Given the description of an element on the screen output the (x, y) to click on. 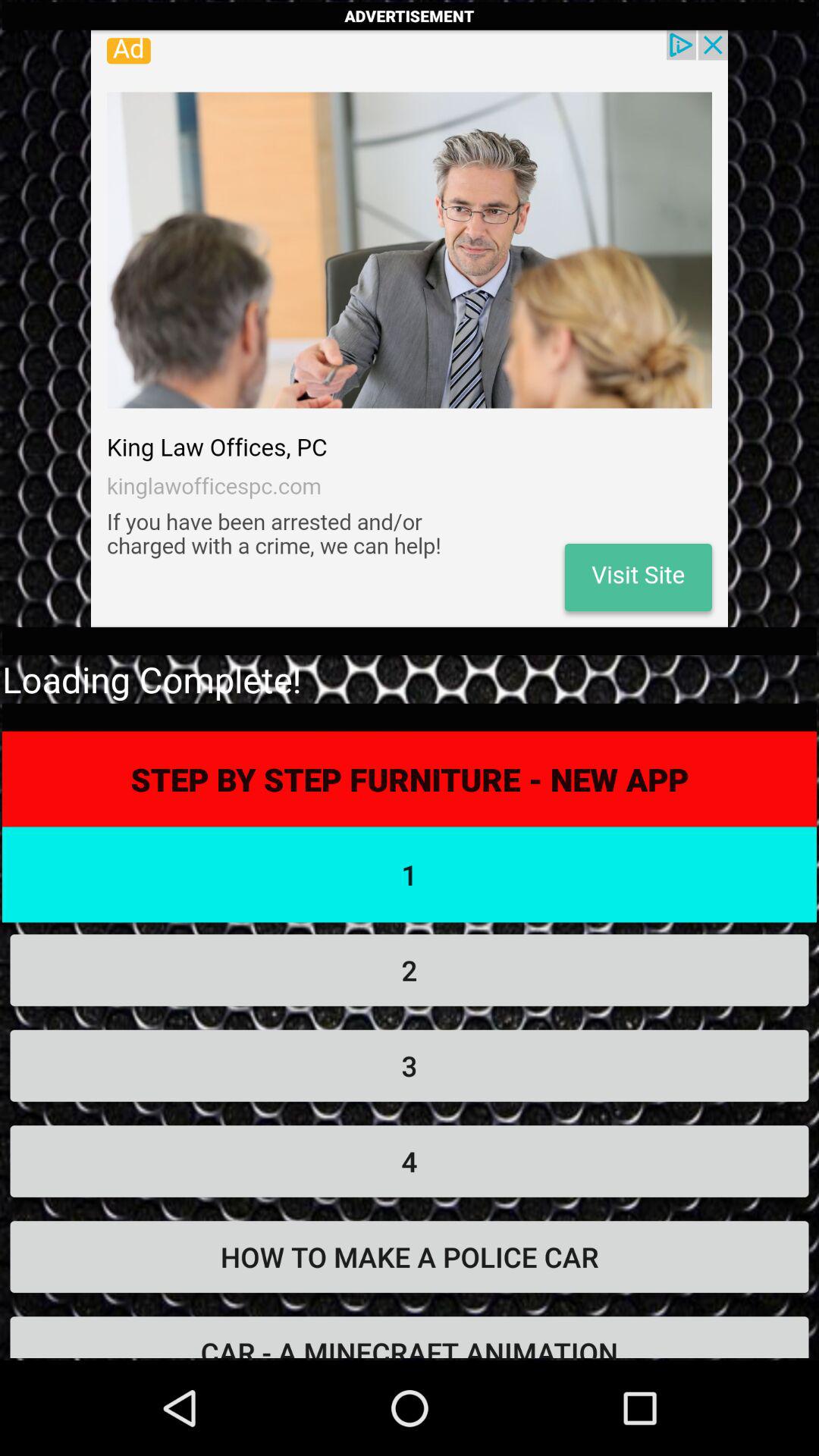
click on number 1 (409, 875)
select the 3rd number option (409, 1065)
click on how to make a police car option (409, 1256)
